Given the description of an element on the screen output the (x, y) to click on. 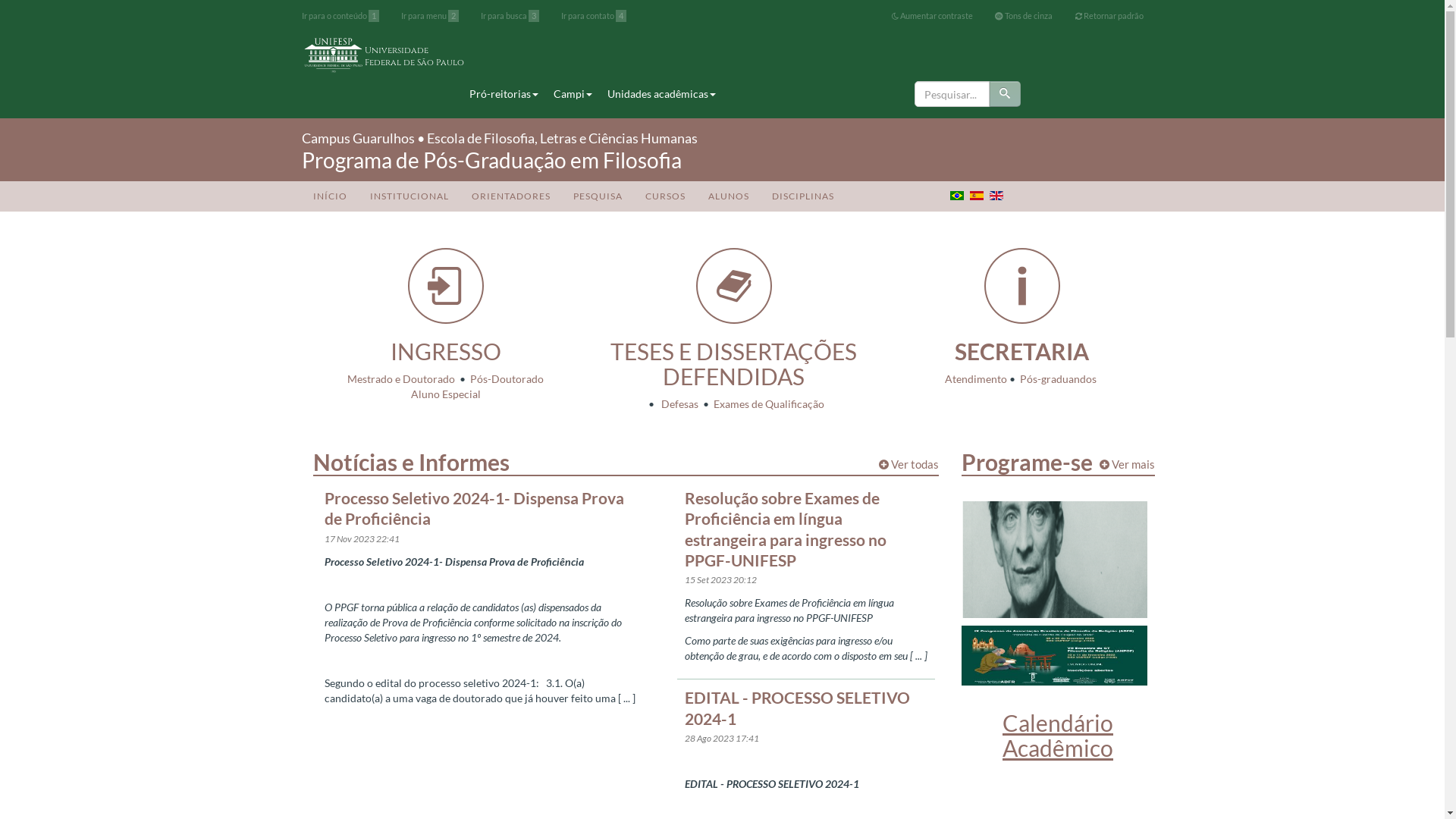
Campi Element type: text (572, 93)
SECRETARIA Element type: text (1021, 350)
Ver todas Element type: text (908, 463)
Defesas Element type: text (677, 403)
Ir para busca 3 Element type: text (509, 15)
Mestrado e Doutorado Element type: text (401, 378)
PESQUISA Element type: text (597, 196)
ALUNOS Element type: text (727, 196)
Atendimento Element type: text (975, 378)
Ver mais Element type: text (1126, 463)
CURSOS Element type: text (664, 196)
Aluno Especial Element type: text (445, 393)
INGRESSO Element type: text (444, 350)
Aumentar contraste Element type: text (931, 15)
DISCIPLINAS Element type: text (801, 196)
Tons de cinza Element type: text (1023, 15)
EDITAL - PROCESSO SELETIVO 2024-1 Element type: text (805, 707)
Ir para contato 4 Element type: text (593, 15)
English (UK) Element type: hover (995, 195)
Ir para menu 2 Element type: text (429, 15)
INSTITUCIONAL Element type: text (408, 196)
Espanhol (ES) Element type: hover (975, 195)
ORIENTADORES Element type: text (510, 196)
